Given the description of an element on the screen output the (x, y) to click on. 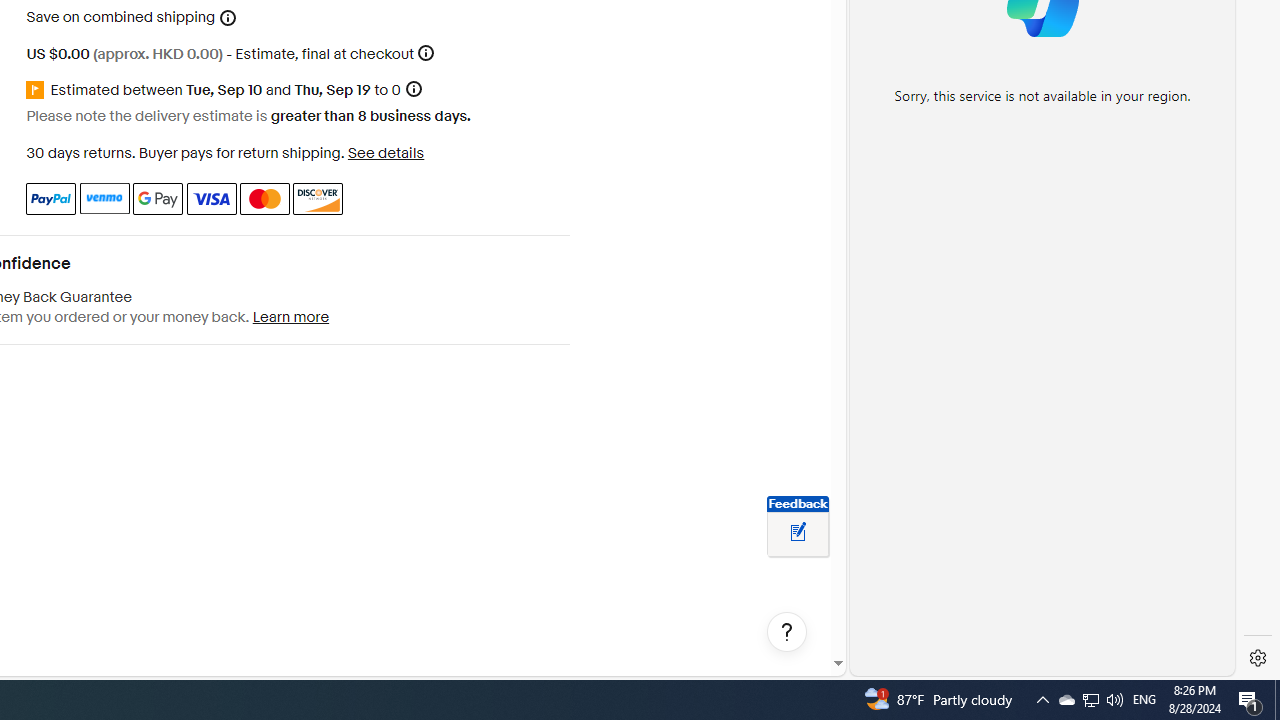
More information (426, 52)
